Given the description of an element on the screen output the (x, y) to click on. 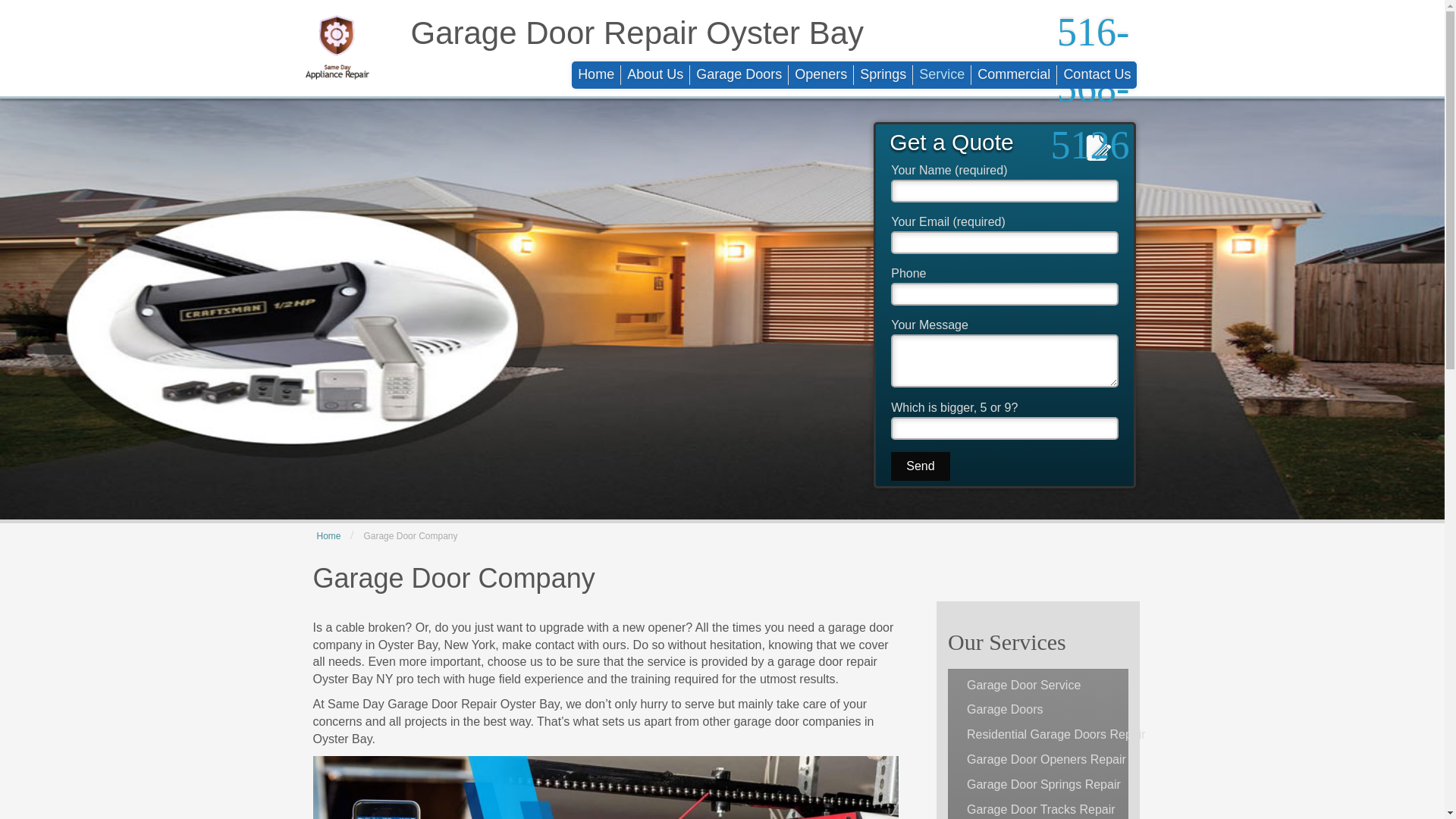
Contact Us (1097, 75)
Home (596, 75)
Garage Doors (739, 75)
Service (941, 75)
Openers (821, 75)
Send (920, 466)
Send (920, 466)
About Us (655, 75)
Springs (882, 75)
Commercial (1014, 75)
Home (328, 535)
